Given the description of an element on the screen output the (x, y) to click on. 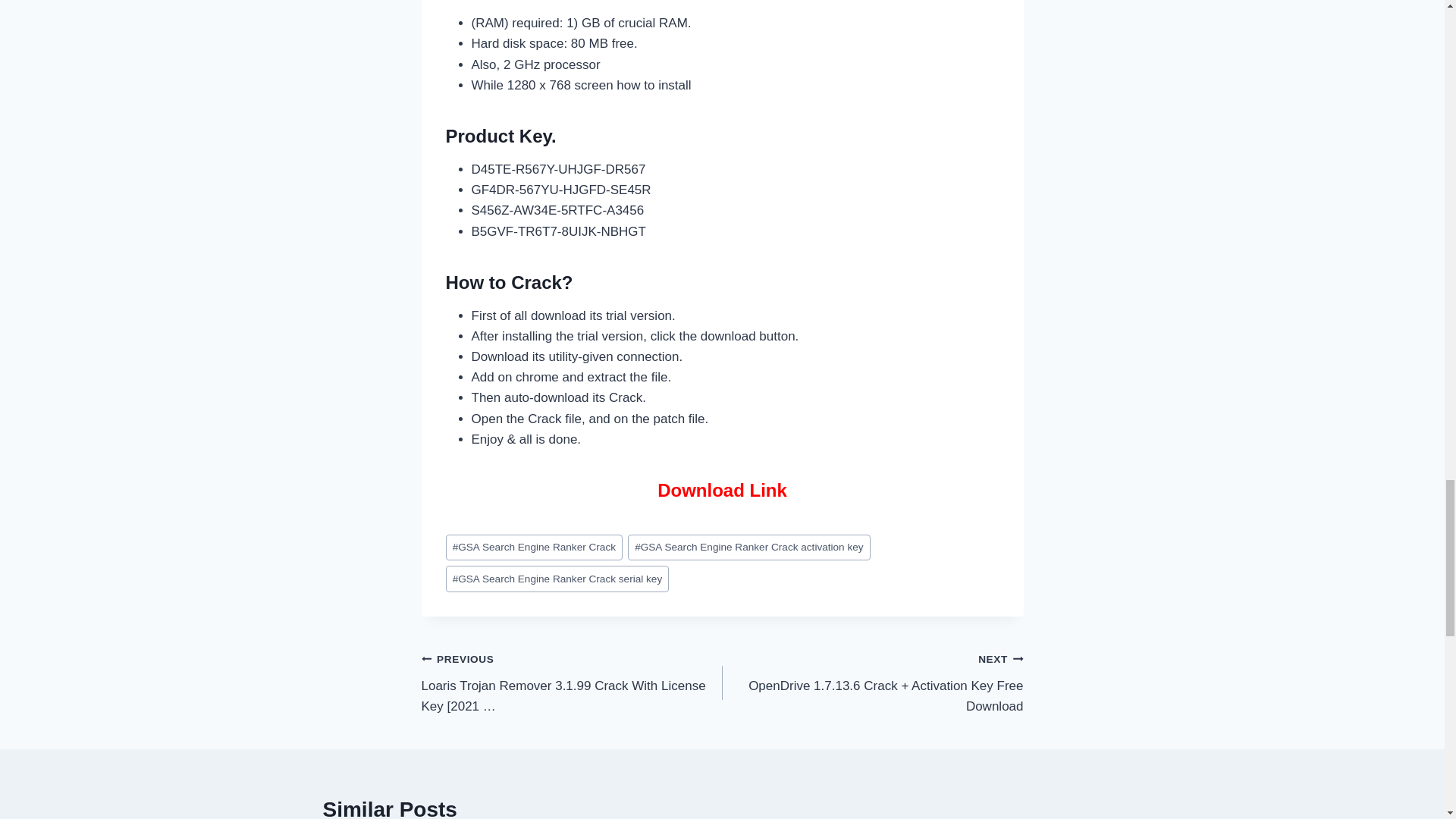
GSA Search Engine Ranker Crack serial key (557, 578)
GSA Search Engine Ranker Crack (534, 547)
GSA Search Engine Ranker Crack activation key (748, 547)
Download Link (722, 489)
